Given the description of an element on the screen output the (x, y) to click on. 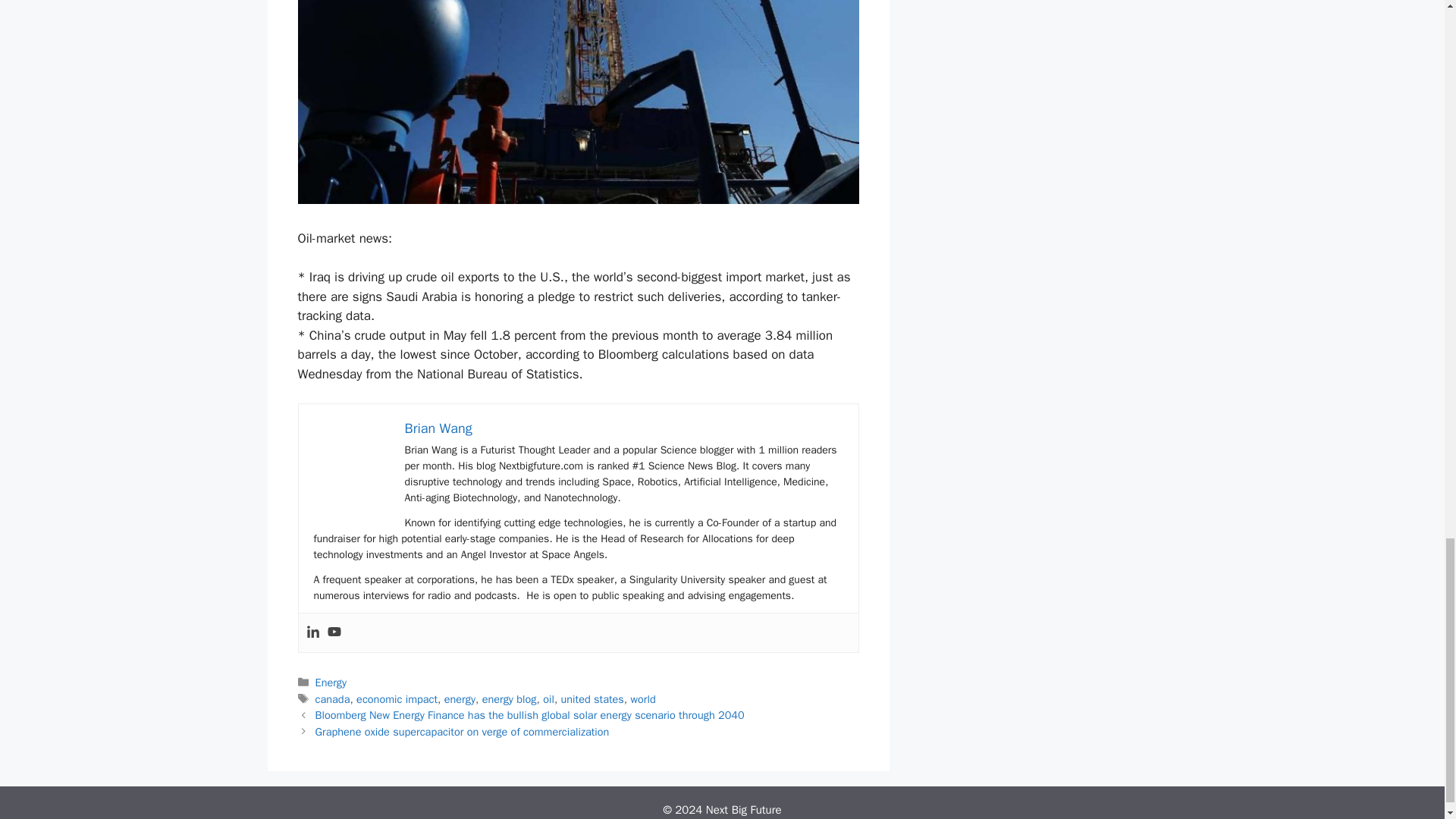
Brian Wang (437, 428)
canada (332, 698)
economic impact (397, 698)
Graphene oxide supercapacitor on verge of commercialization (462, 731)
united states (592, 698)
Energy (331, 682)
energy (460, 698)
energy blog (509, 698)
world (643, 698)
